Given the description of an element on the screen output the (x, y) to click on. 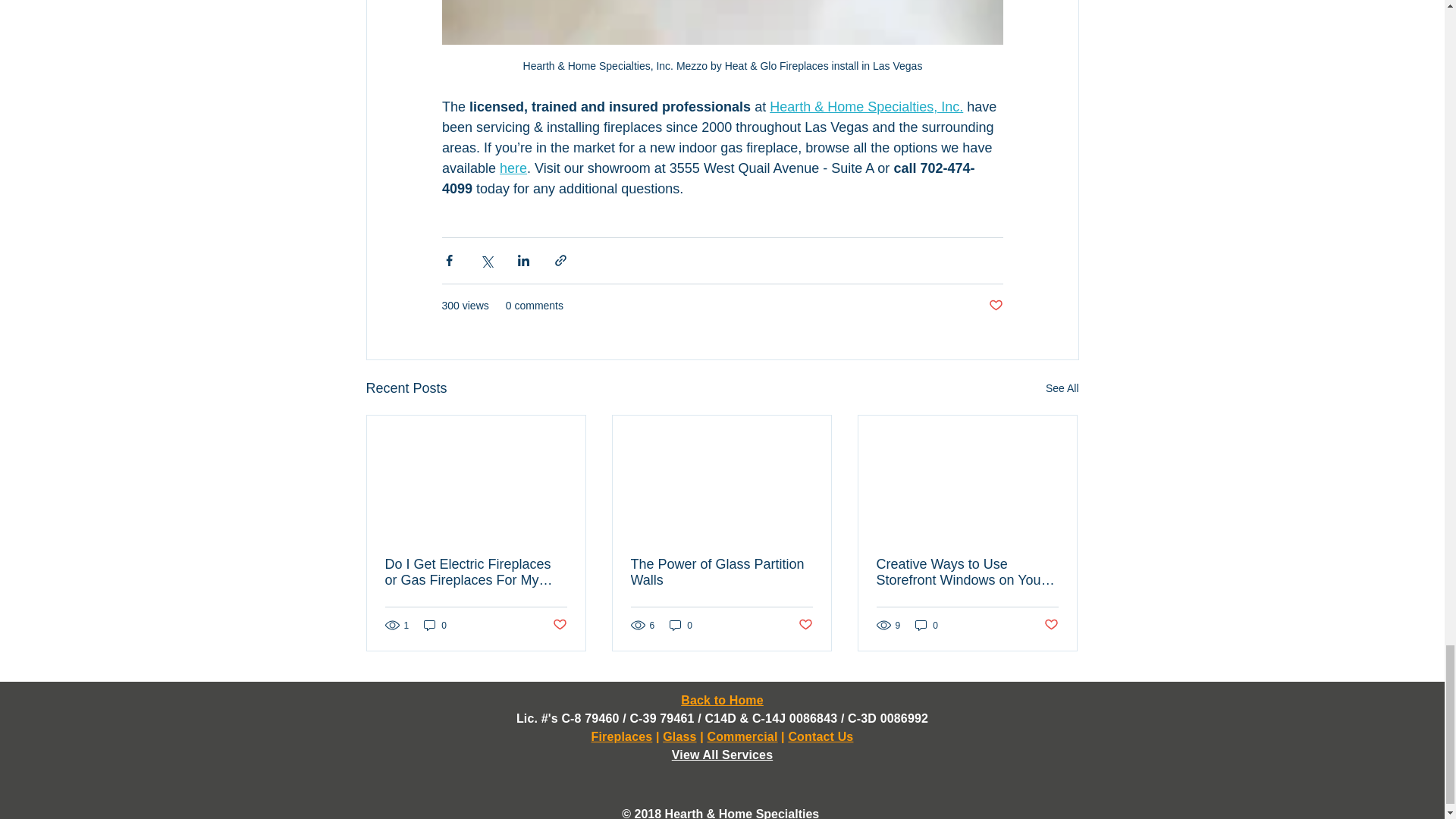
The Power of Glass Partition Walls (721, 572)
Glass (678, 736)
0 (926, 625)
See All (1061, 388)
Post not marked as liked (804, 625)
Post not marked as liked (995, 305)
here (513, 168)
Back to Home (721, 699)
Post not marked as liked (558, 625)
0 (681, 625)
